Given the description of an element on the screen output the (x, y) to click on. 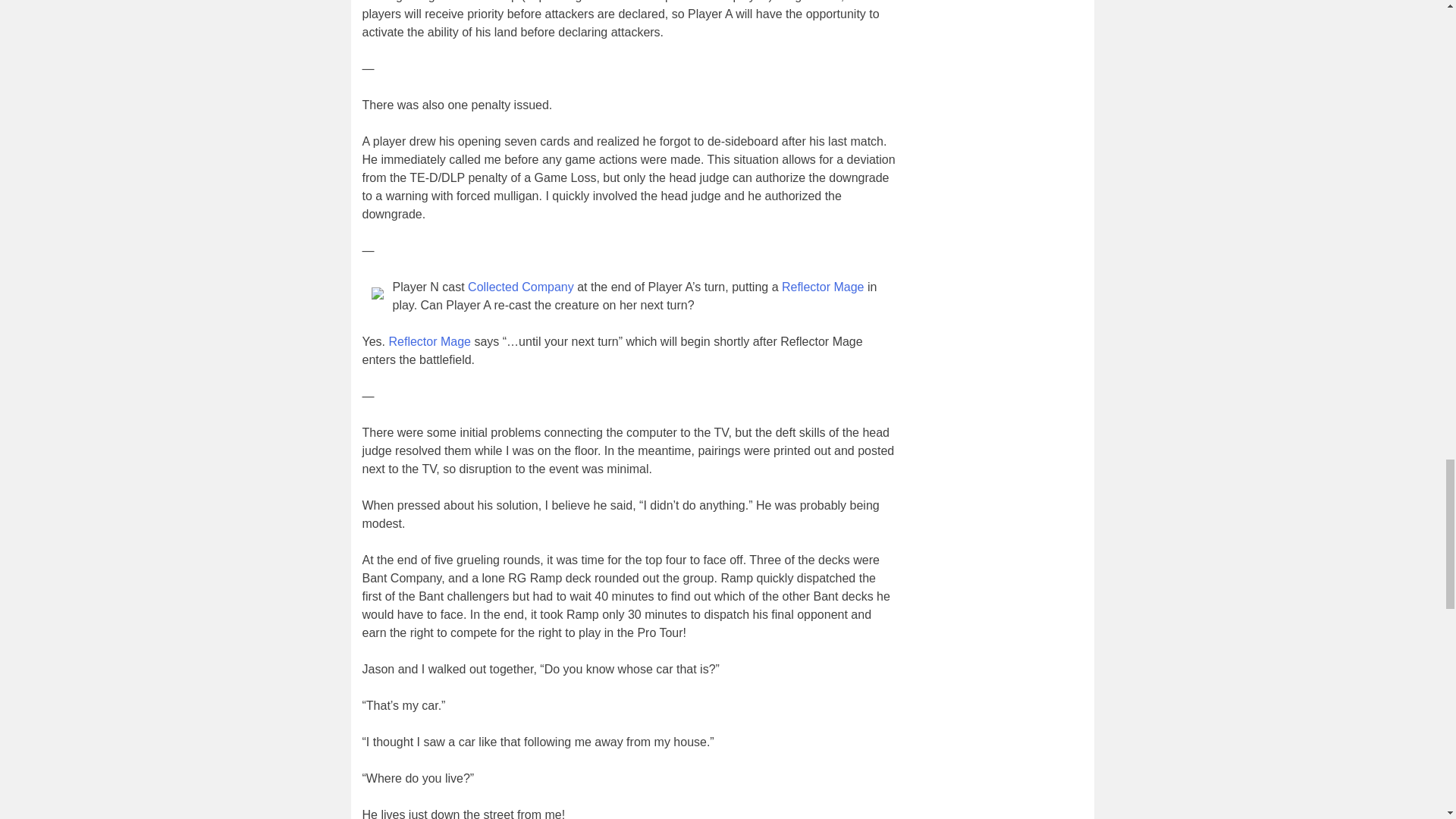
Collected Company (520, 286)
Reflector Mage (822, 286)
Reflector Mage (429, 341)
